Given the description of an element on the screen output the (x, y) to click on. 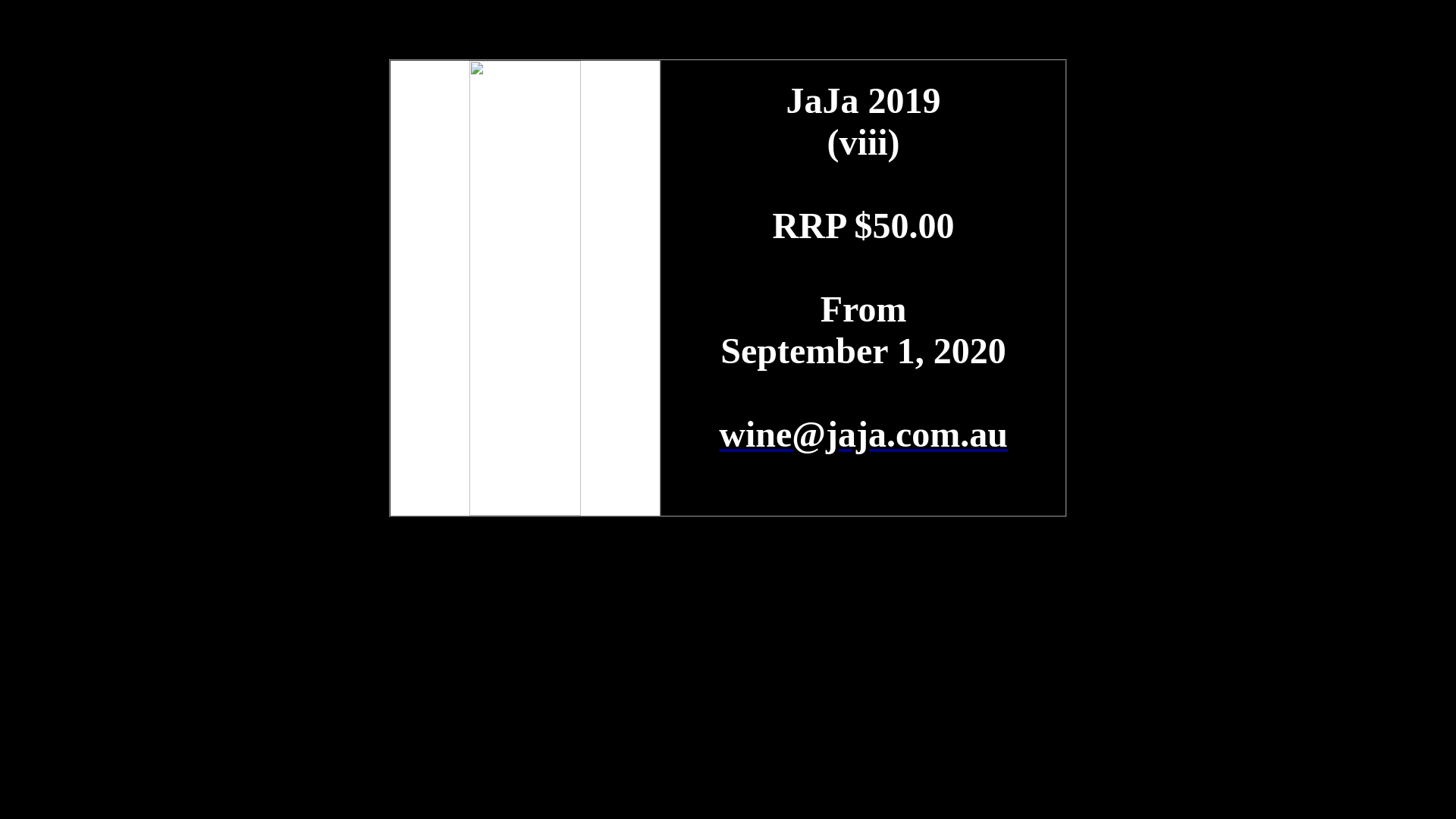
wine@jaja.com.au Element type: text (862, 434)
